Given the description of an element on the screen output the (x, y) to click on. 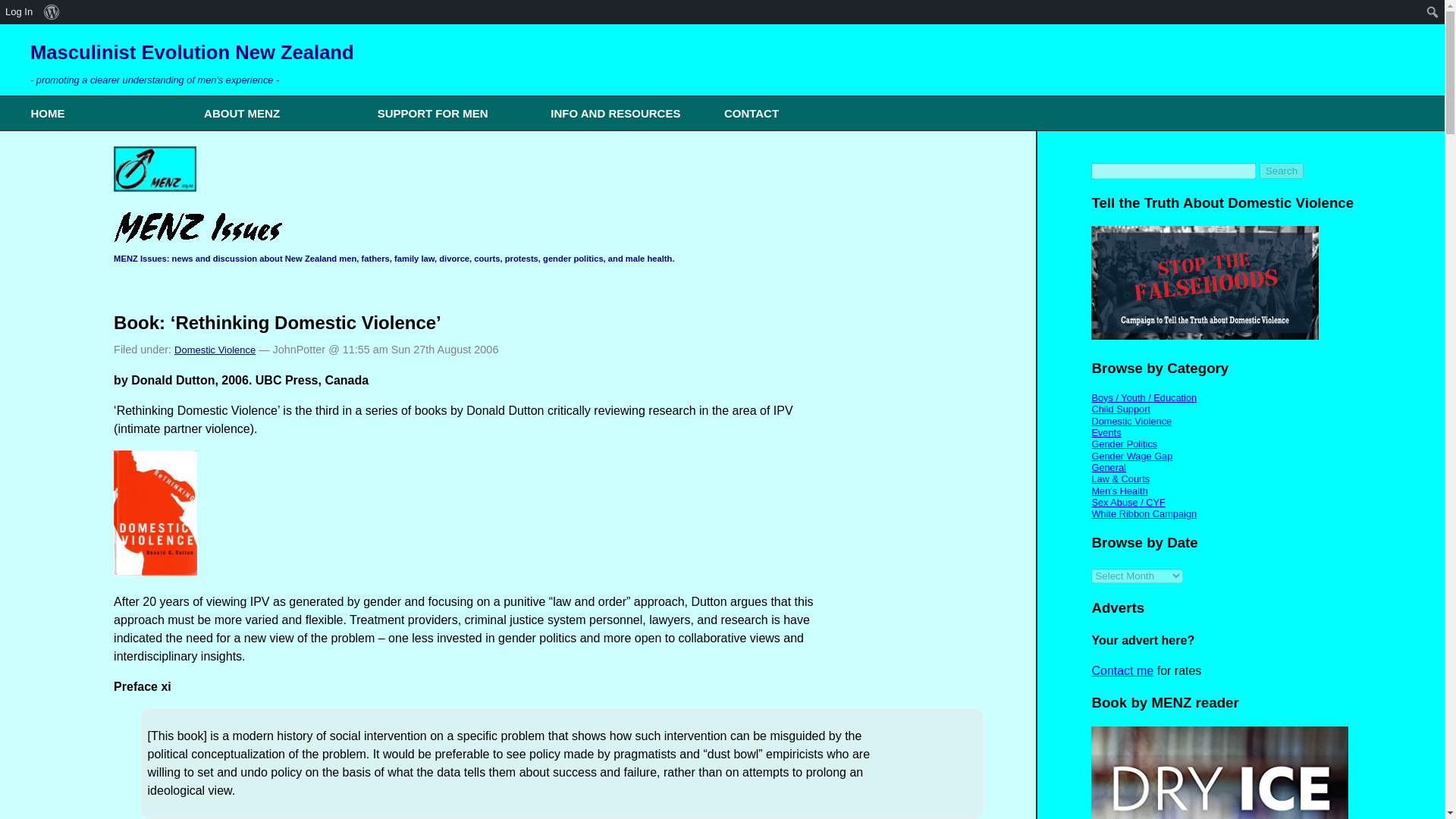
INFO AND RESOURCES (627, 113)
Masculinist Evolution New Zealand (191, 52)
ABOUT MENZ (280, 113)
Child Support (1120, 408)
Domestic Violence (1131, 420)
Search (1281, 170)
Latest MENZ Issues Posting (154, 168)
Events (1105, 432)
SUPPORT FOR MEN (453, 113)
Search (1281, 170)
Gender Politics (1123, 443)
HOME (106, 113)
Domestic Violence (215, 349)
CONTACT (799, 113)
